Given the description of an element on the screen output the (x, y) to click on. 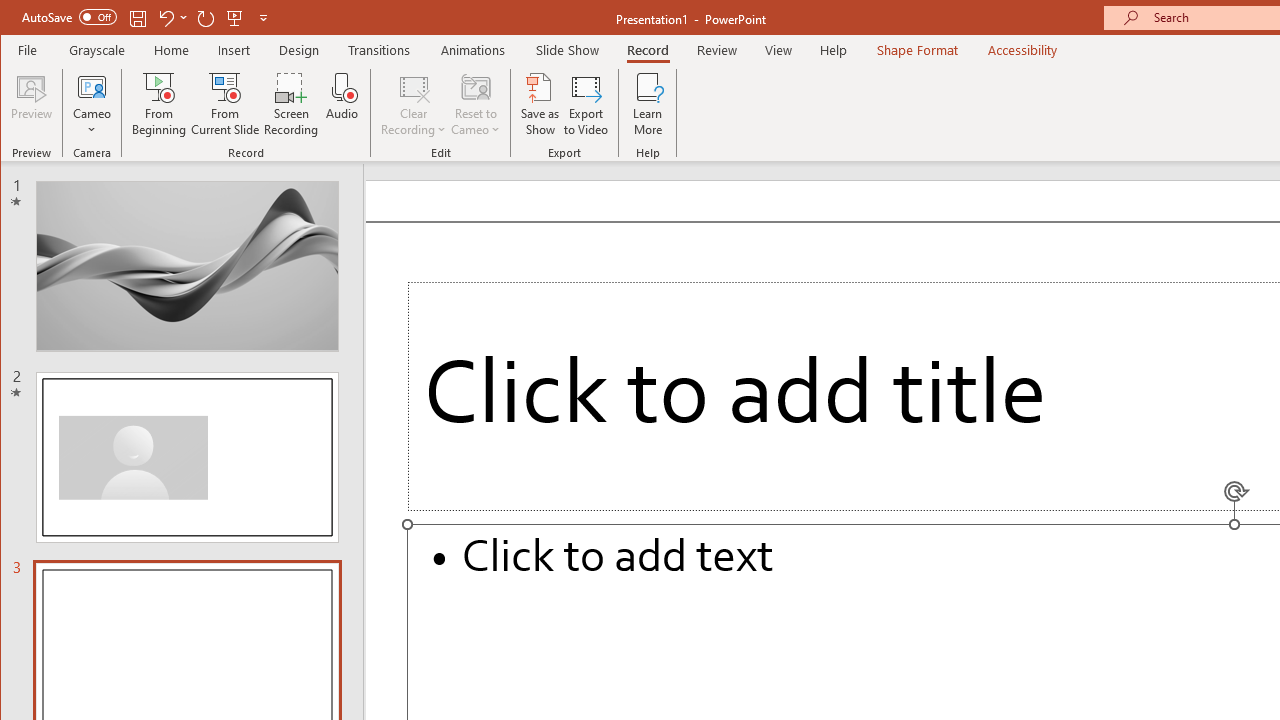
Shape Format (916, 50)
From Beginning... (159, 104)
